Given the description of an element on the screen output the (x, y) to click on. 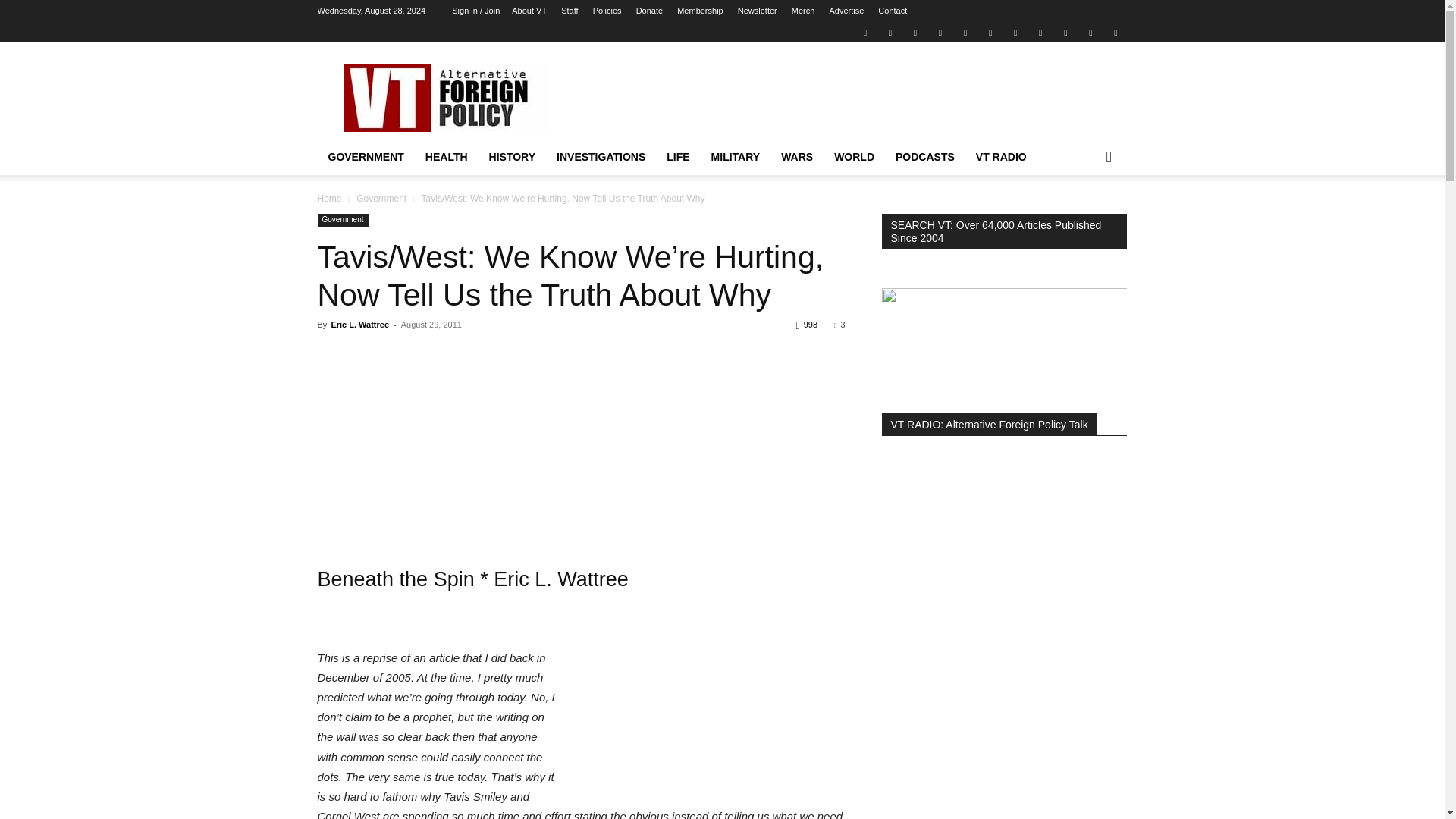
Blogger (864, 31)
Reddit (940, 31)
Advertise (845, 10)
Membership (700, 10)
Contact (892, 10)
Rumble (964, 31)
Staff (569, 10)
Donate (649, 10)
Policies (606, 10)
Mail (915, 31)
